Given the description of an element on the screen output the (x, y) to click on. 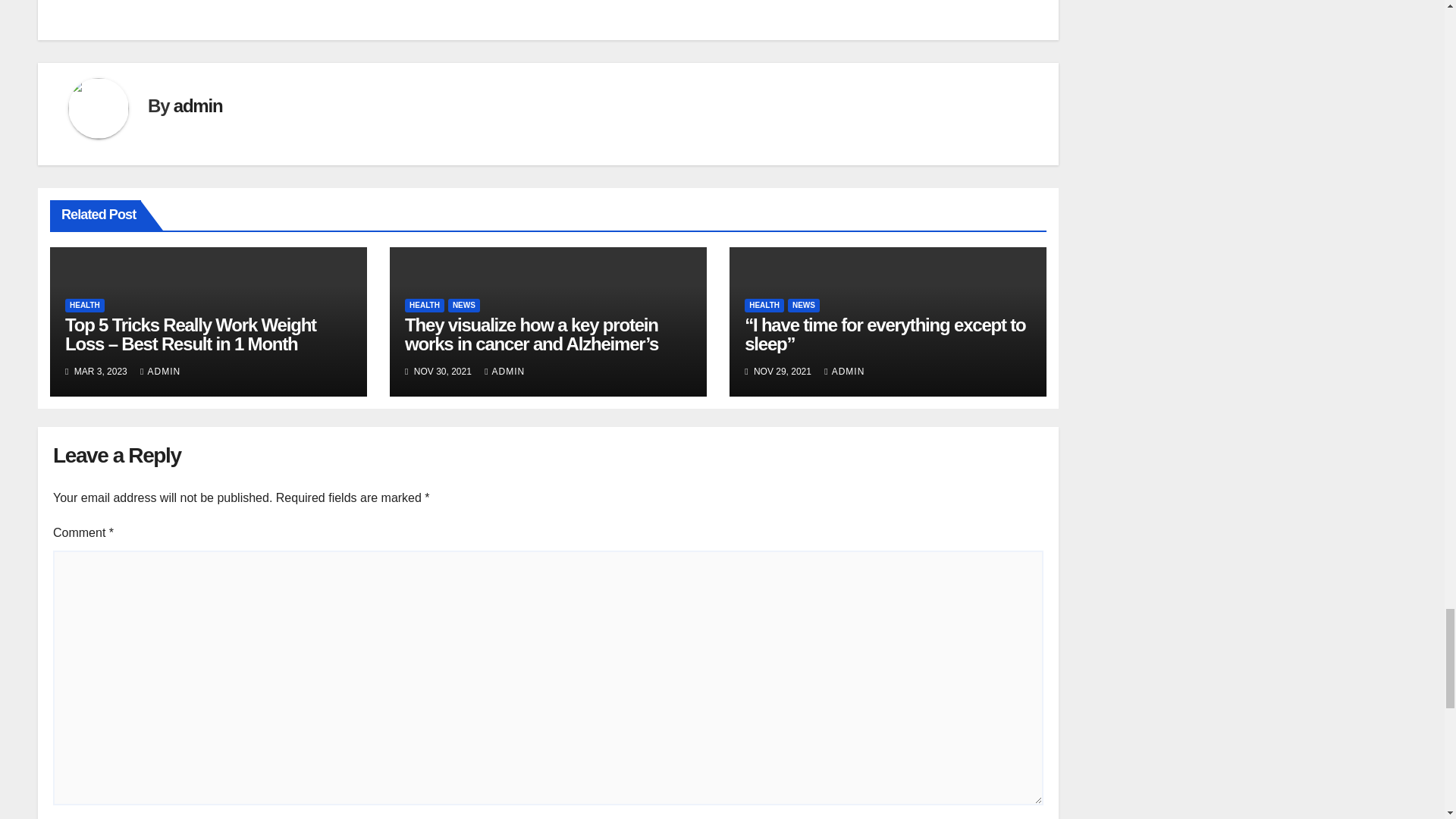
admin (197, 105)
NEWS (803, 305)
HEALTH (424, 305)
HEALTH (84, 305)
ADMIN (159, 371)
ADMIN (504, 371)
HEALTH (764, 305)
NEWS (464, 305)
